Given the description of an element on the screen output the (x, y) to click on. 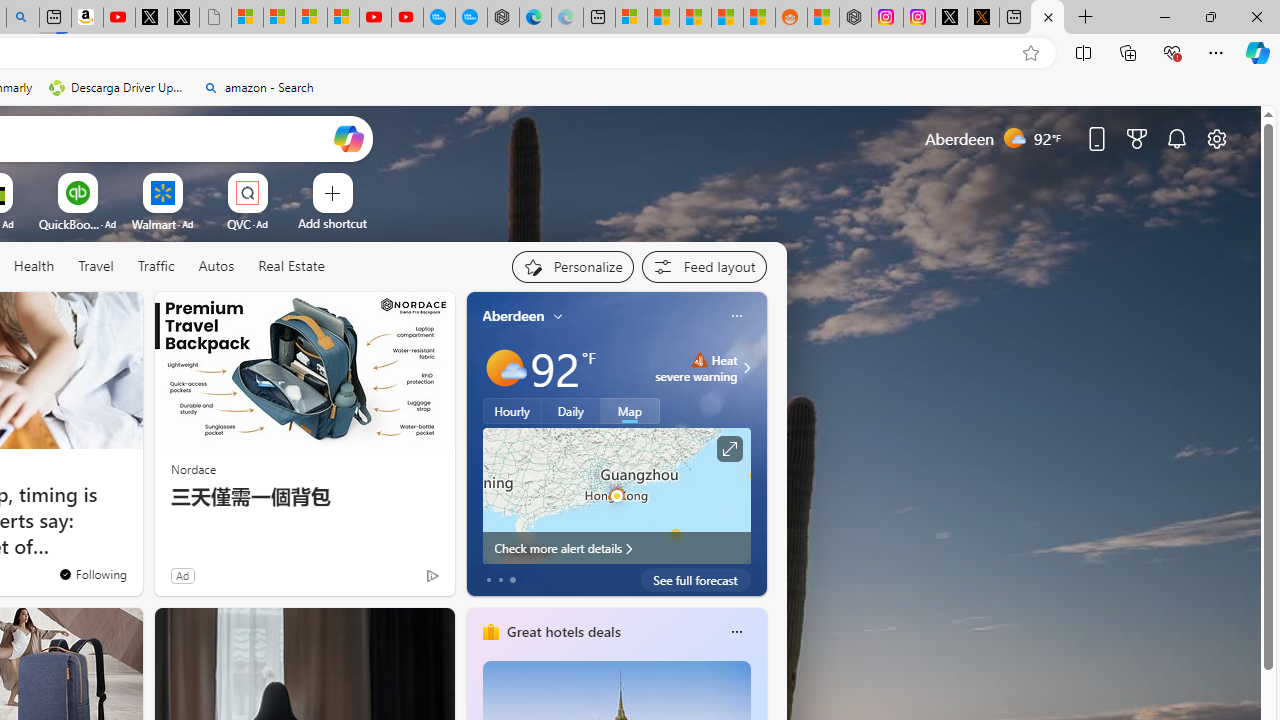
Shanghai, China Weather trends | Microsoft Weather (758, 17)
Autos (215, 265)
See full forecast (695, 579)
Heat - Severe (699, 359)
Great hotels deals (562, 631)
Aberdeen (513, 315)
Traffic (155, 267)
The most popular Google 'how to' searches (471, 17)
Microsoft account | Microsoft Account Privacy Settings (630, 17)
Check more alert details (616, 547)
